Given the description of an element on the screen output the (x, y) to click on. 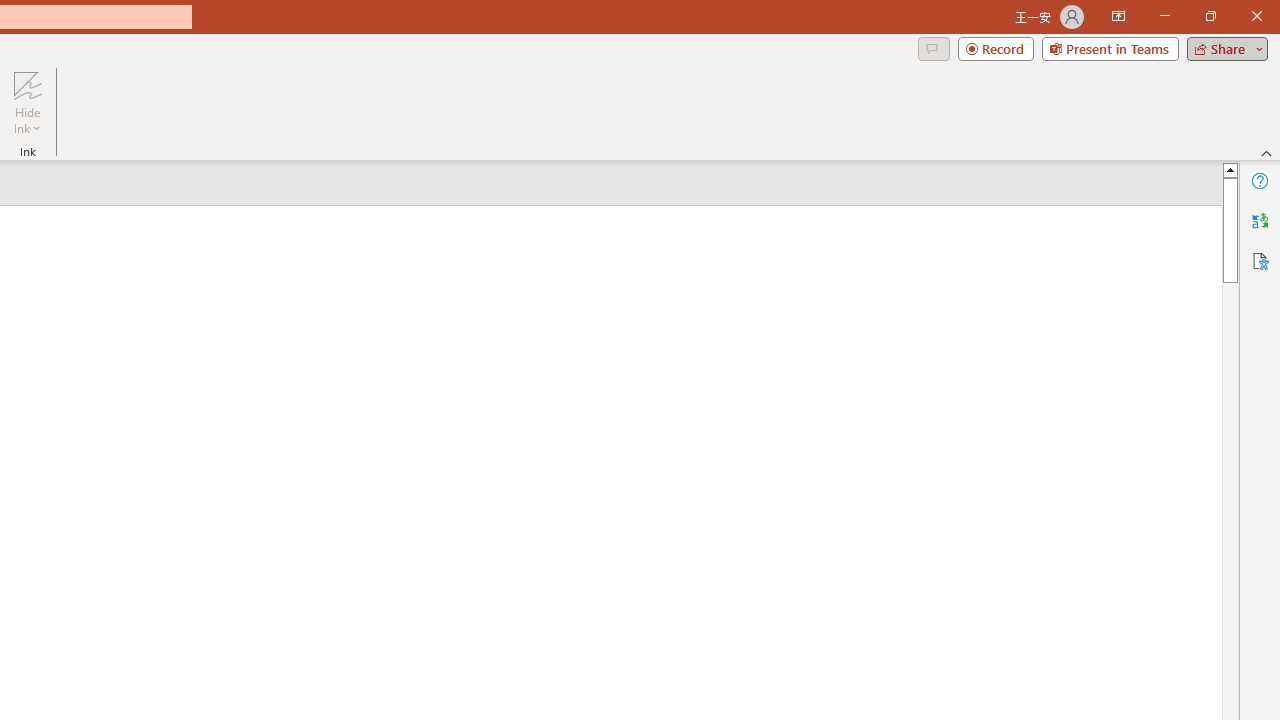
Hide Ink (27, 84)
Translator (1260, 220)
Hide Ink (27, 102)
